Given the description of an element on the screen output the (x, y) to click on. 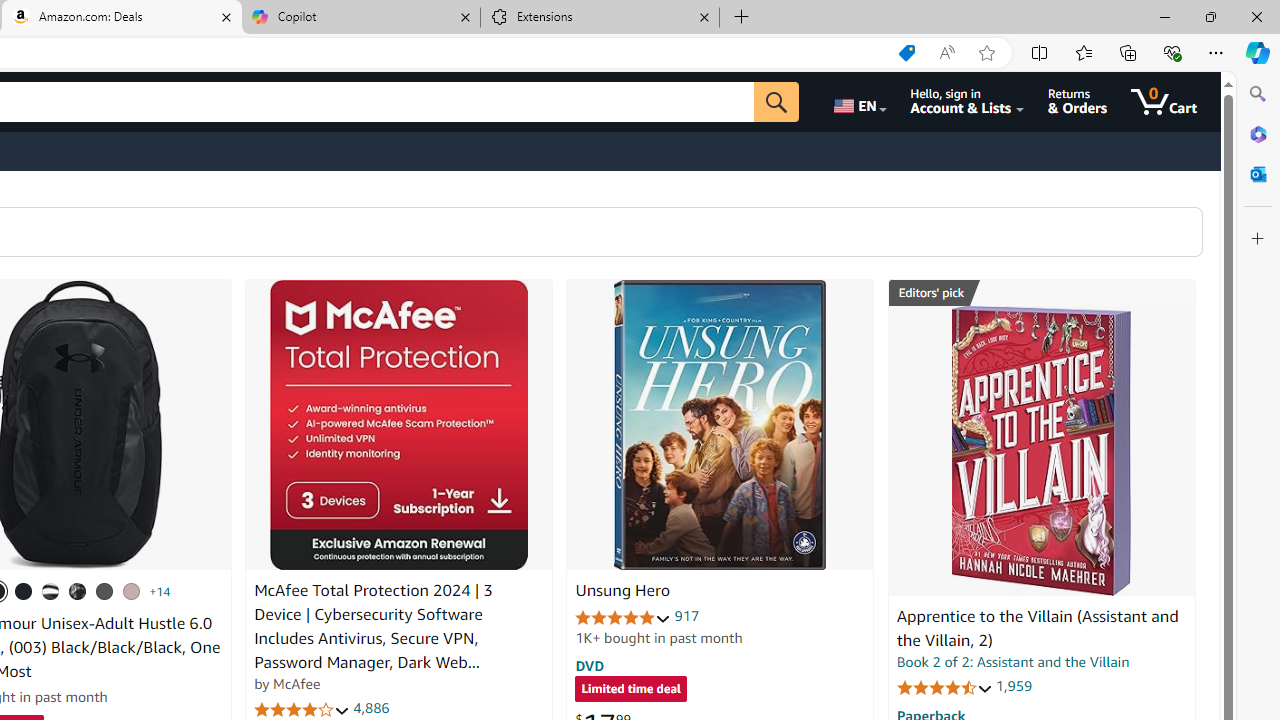
Unsung Hero (720, 425)
Apprentice to the Villain (Assistant and the Villain, 2) (1037, 628)
4,886 (371, 708)
(001) Black / Black / Metallic Gold (24, 591)
4.6 out of 5 stars (944, 686)
Limited time deal (630, 690)
+14 (159, 591)
